Given the description of an element on the screen output the (x, y) to click on. 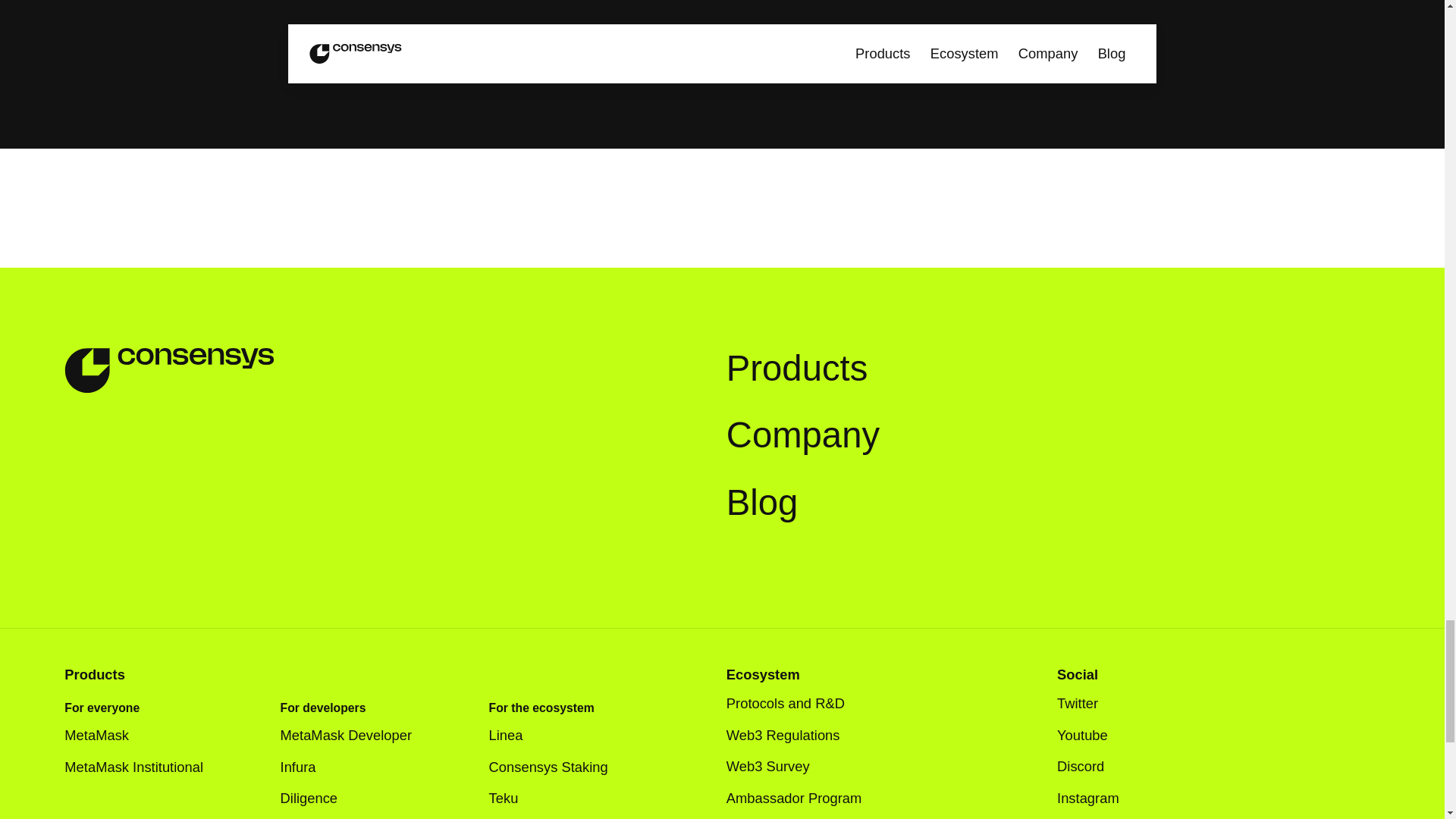
Discord (1091, 766)
Company (802, 435)
Web3 Regulations (783, 735)
Ambassador Program (793, 798)
Instagram (1099, 798)
Consensys Staking (548, 767)
For everyone (101, 707)
For developers (323, 707)
Products (796, 368)
Diligence (320, 798)
